Given the description of an element on the screen output the (x, y) to click on. 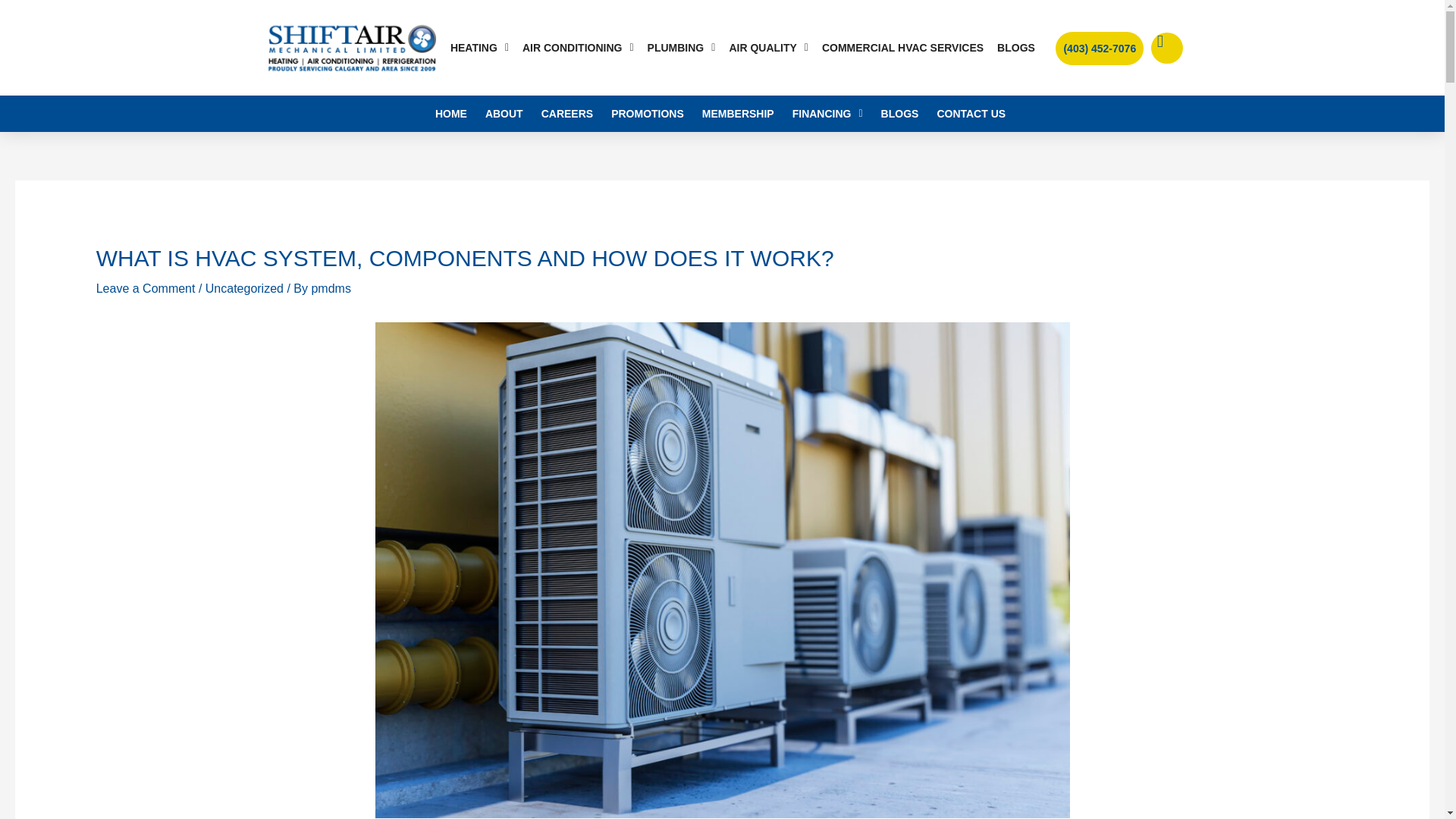
COMMERCIAL HVAC SERVICES (902, 47)
AIR CONDITIONING (577, 47)
BLOGS (1016, 47)
AIR QUALITY (768, 47)
Envelope (1166, 47)
HEATING (479, 47)
PLUMBING (681, 47)
View all posts by pmdms (330, 287)
